Given the description of an element on the screen output the (x, y) to click on. 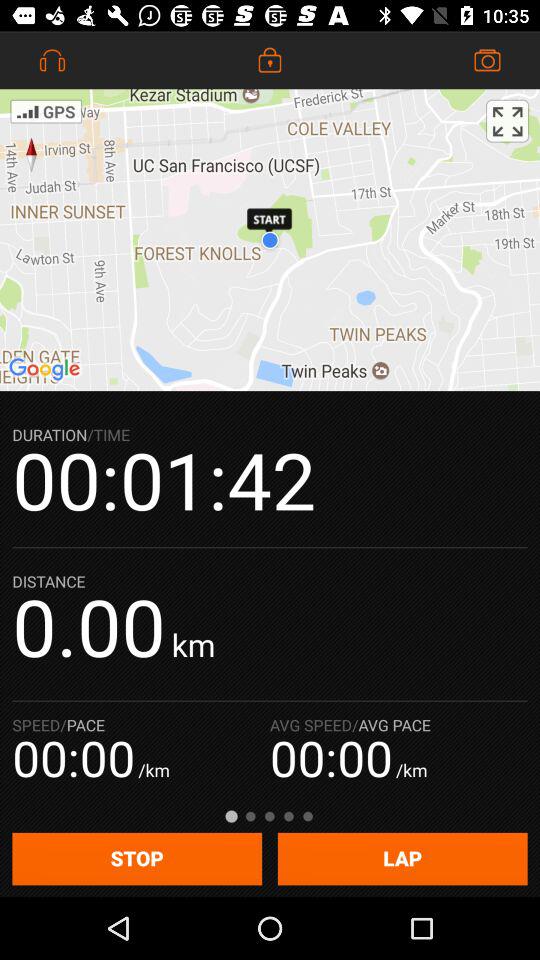
click on the camera icon on the top right of the page (487, 60)
select the option lap which is in the bottom right corner (403, 859)
select the icon which is below the headphones tag (46, 110)
click on the expand icon (507, 121)
